Given the description of an element on the screen output the (x, y) to click on. 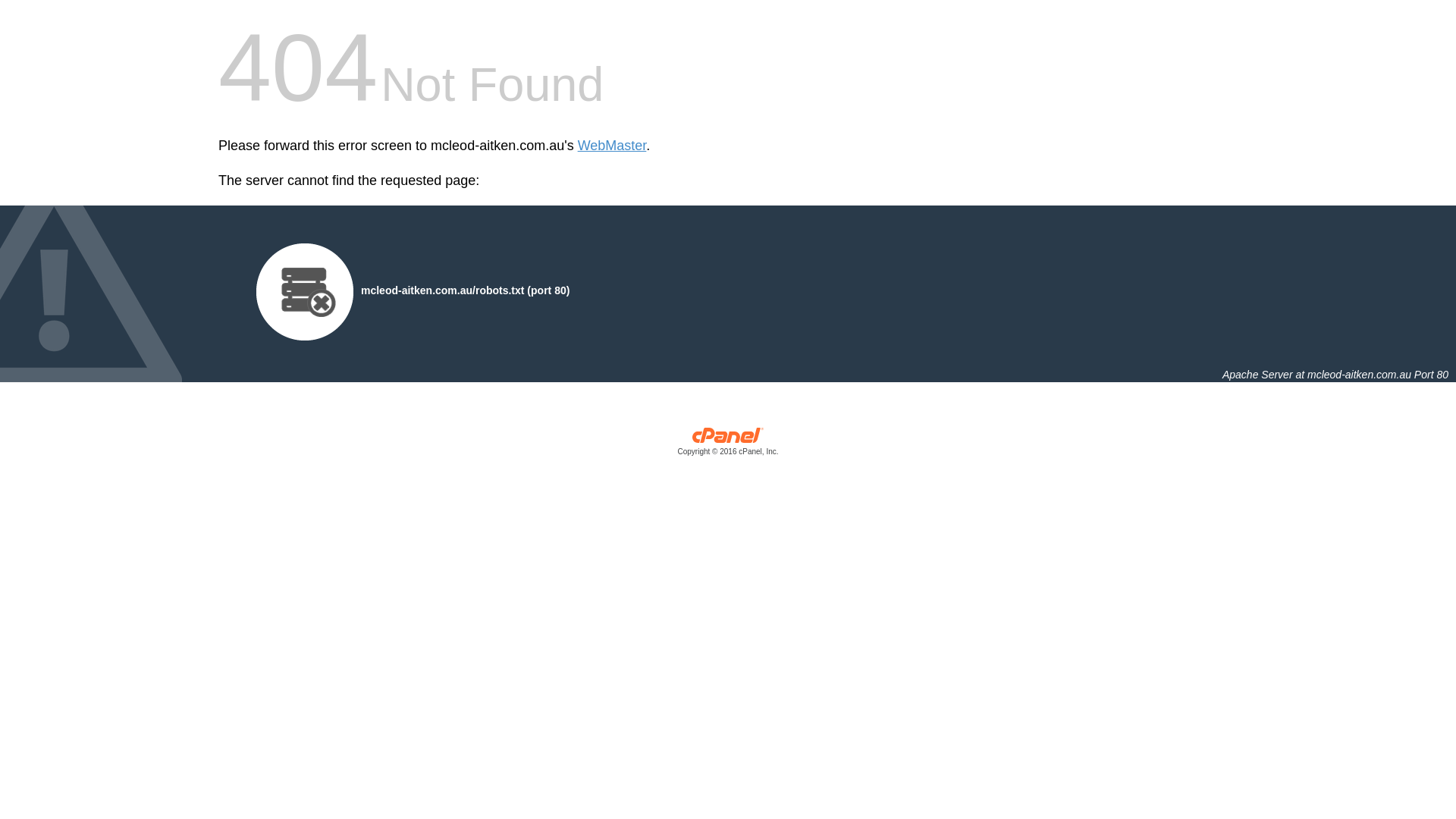
WebMaster Element type: text (611, 145)
